Given the description of an element on the screen output the (x, y) to click on. 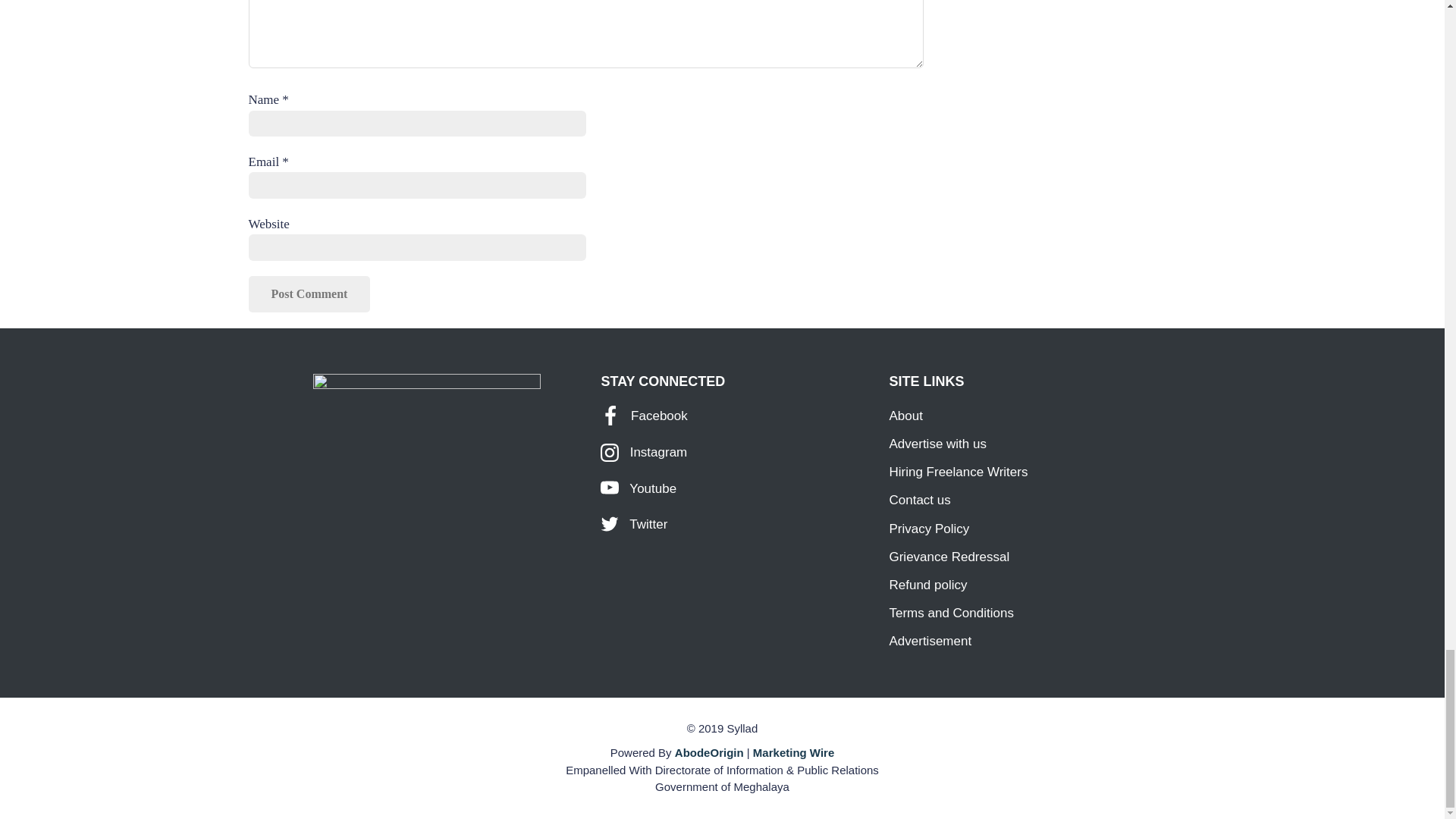
Advertise with us (937, 443)
Contact us (919, 499)
Post Comment (309, 294)
   Twitter (632, 523)
   Instagram (643, 452)
Hiring Freelance Writers (957, 472)
   Youtube (638, 488)
About (904, 415)
     Facebook (643, 415)
Post Comment (309, 294)
